Given the description of an element on the screen output the (x, y) to click on. 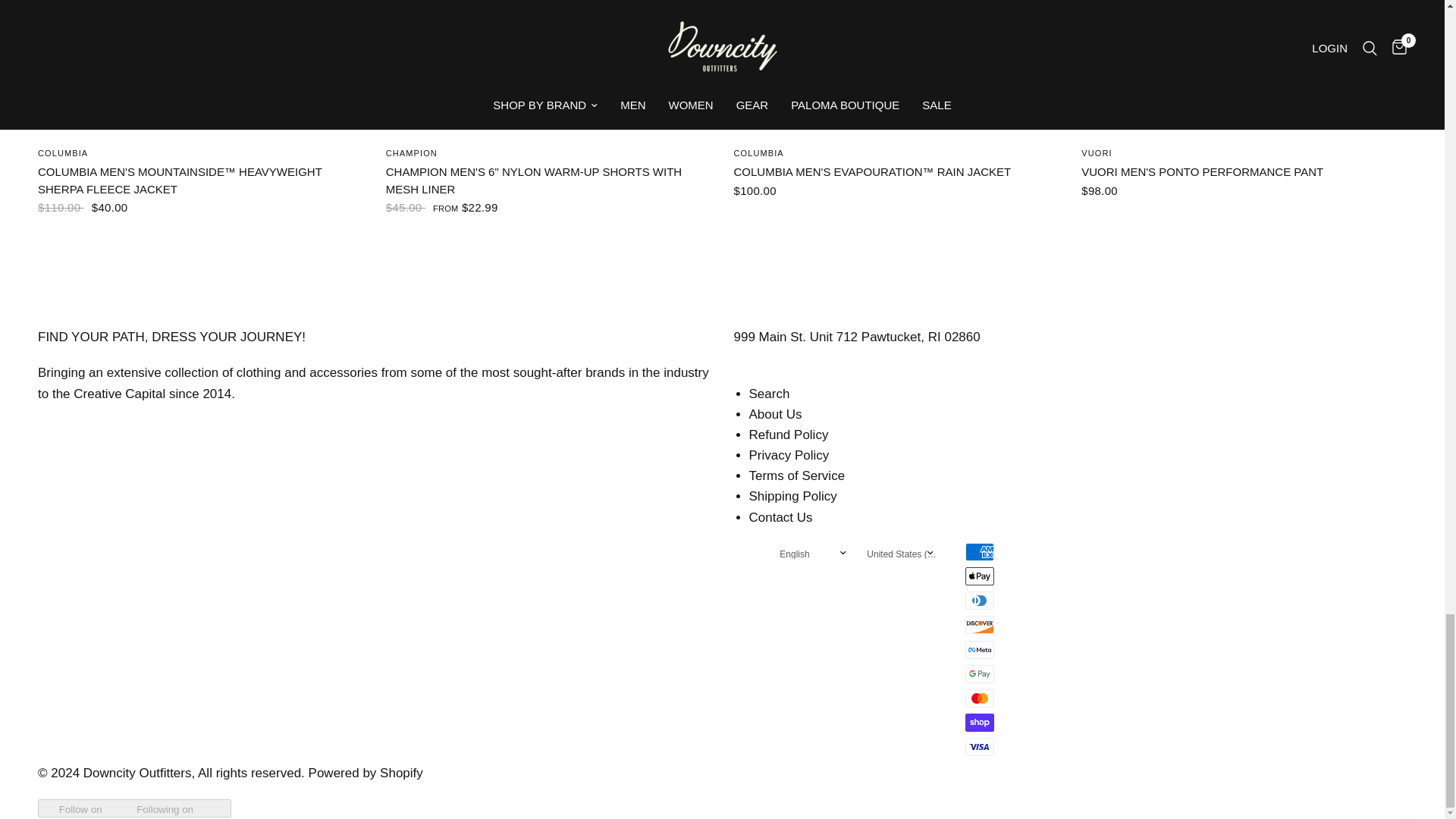
Discover (979, 624)
American Express (979, 551)
Meta Pay (979, 649)
Google Pay (979, 674)
Diners Club (979, 600)
Mastercard (979, 698)
Apple Pay (979, 576)
Shop Pay (979, 722)
